Given the description of an element on the screen output the (x, y) to click on. 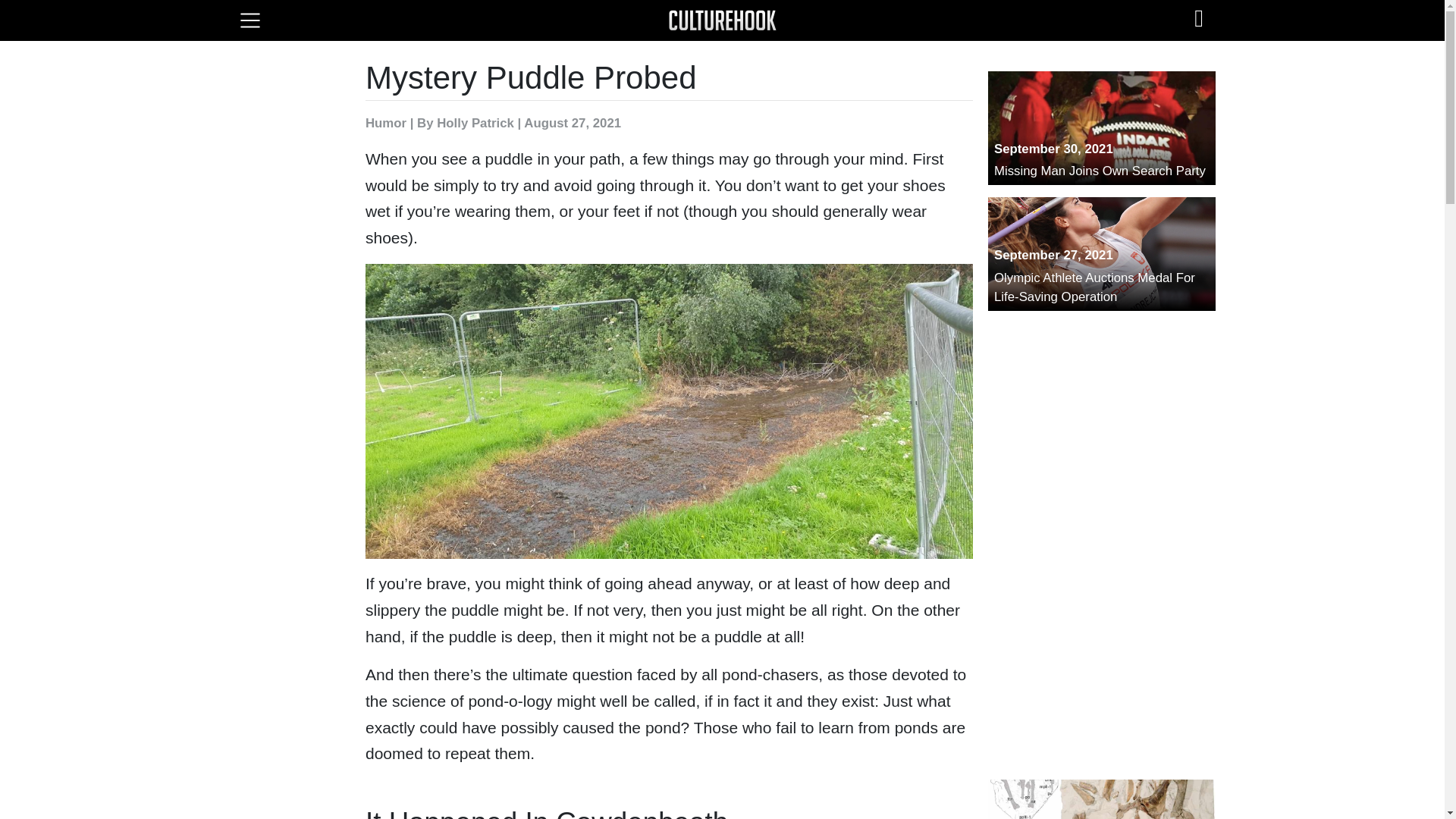
By Holly Patrick (1101, 799)
Humor (1101, 128)
